Given the description of an element on the screen output the (x, y) to click on. 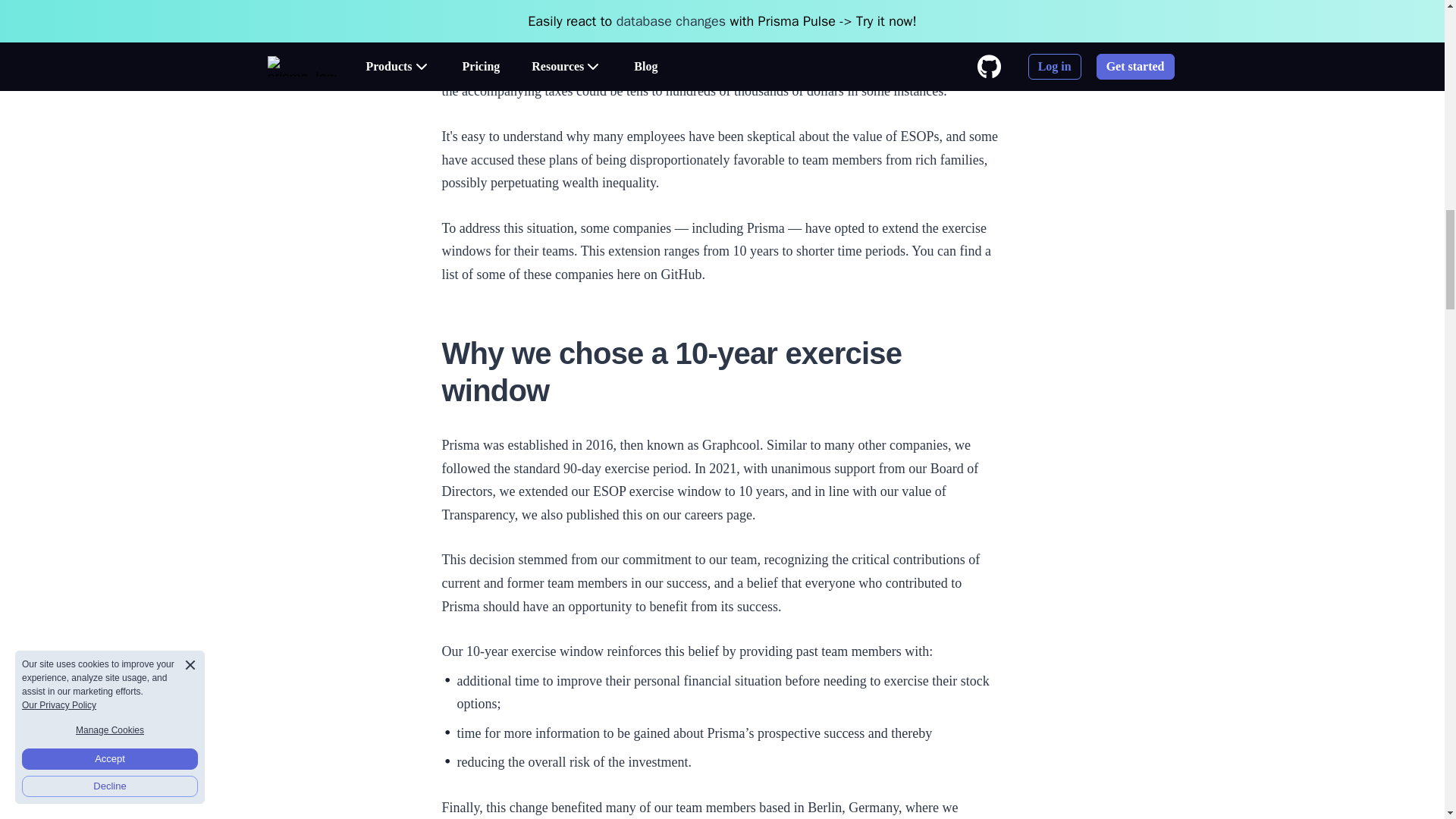
here (627, 273)
careers page (718, 514)
